Given the description of an element on the screen output the (x, y) to click on. 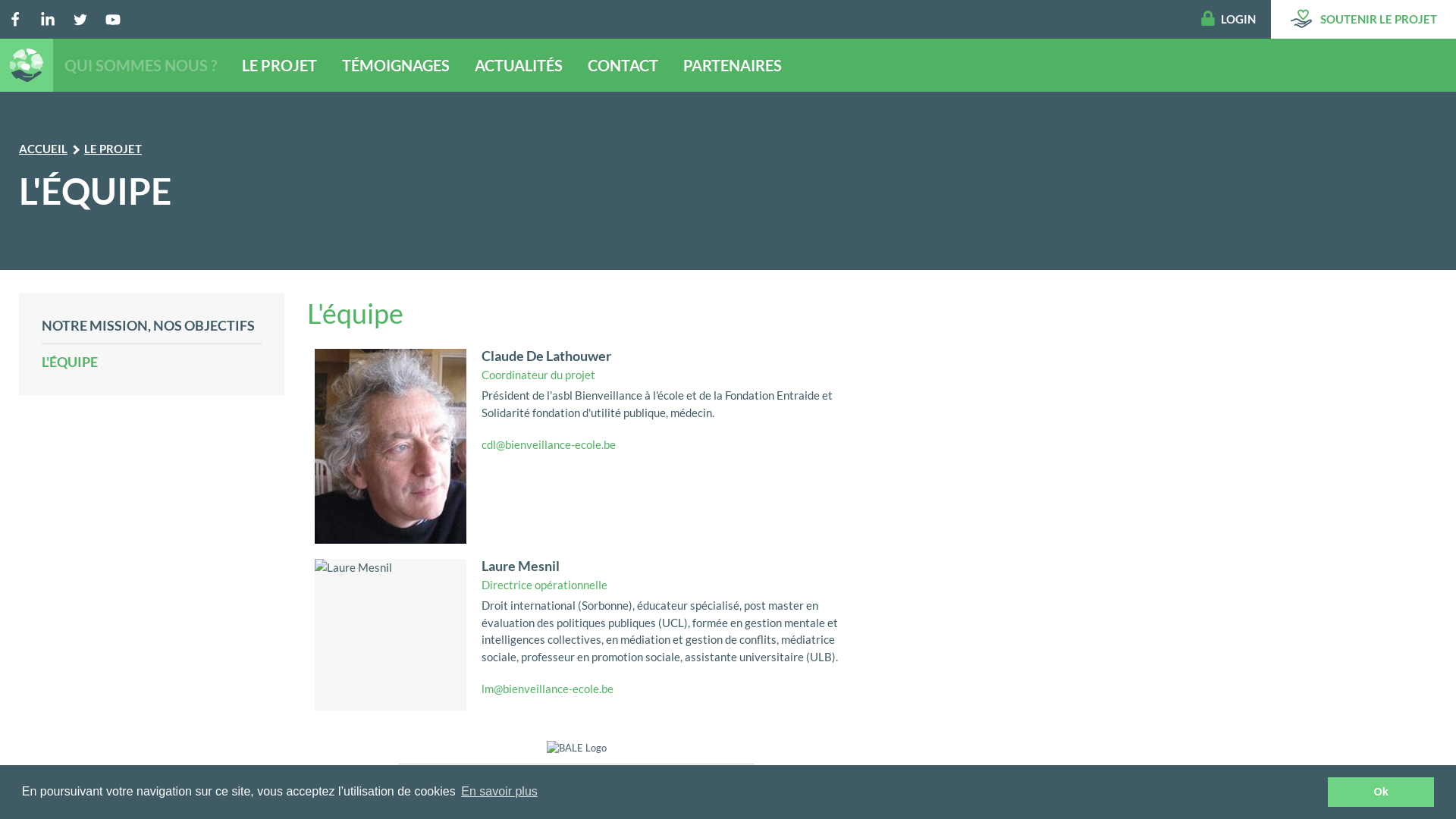
LE PROJET Element type: text (278, 64)
YOUTUBE Element type: text (112, 19)
CONTACT Element type: text (622, 64)
ACCUEIL Element type: text (42, 148)
En savoir plus Element type: text (498, 791)
PARTENAIRES Element type: text (732, 64)
Ok Element type: text (1380, 791)
QUI SOMMES NOUS ? Element type: text (140, 64)
NOTRE MISSION, NOS OBJECTIFS Element type: text (151, 329)
lm@bienveillance-ecole.be Element type: text (547, 688)
LOGIN Element type: text (1235, 18)
LE PROJET Element type: text (112, 148)
LINKEDIN Element type: text (47, 19)
TWITTER Element type: text (79, 19)
cdl@bienveillance-ecole.be Element type: text (548, 444)
FACEBOOK Element type: text (14, 19)
